Given the description of an element on the screen output the (x, y) to click on. 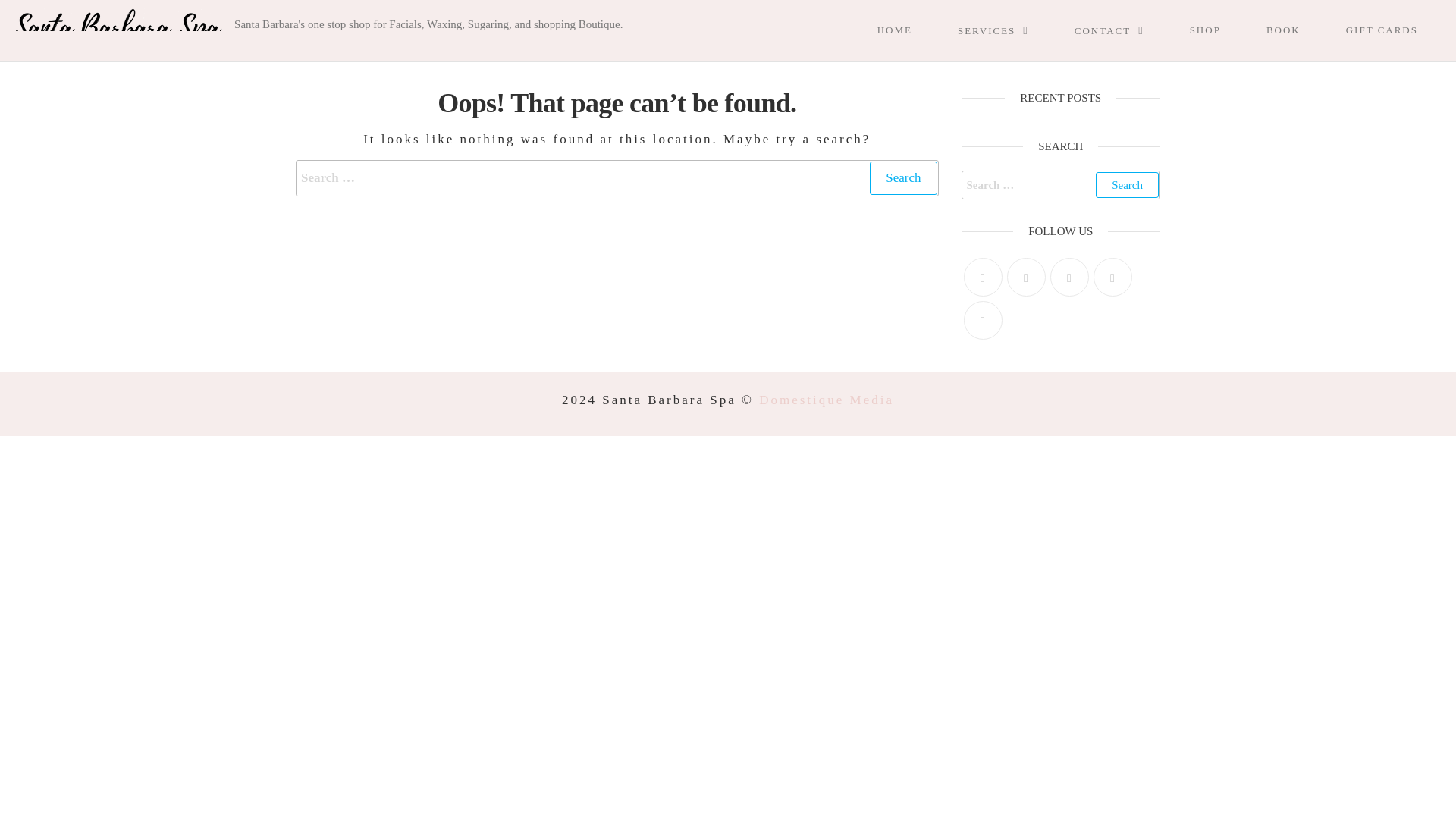
SERVICES (1008, 30)
Search (902, 177)
Twitter (981, 276)
Search (1127, 184)
Book (1298, 30)
Search (902, 177)
Search (1127, 184)
Search (1127, 184)
Domestique Media (825, 400)
BOOK (1298, 30)
